Given the description of an element on the screen output the (x, y) to click on. 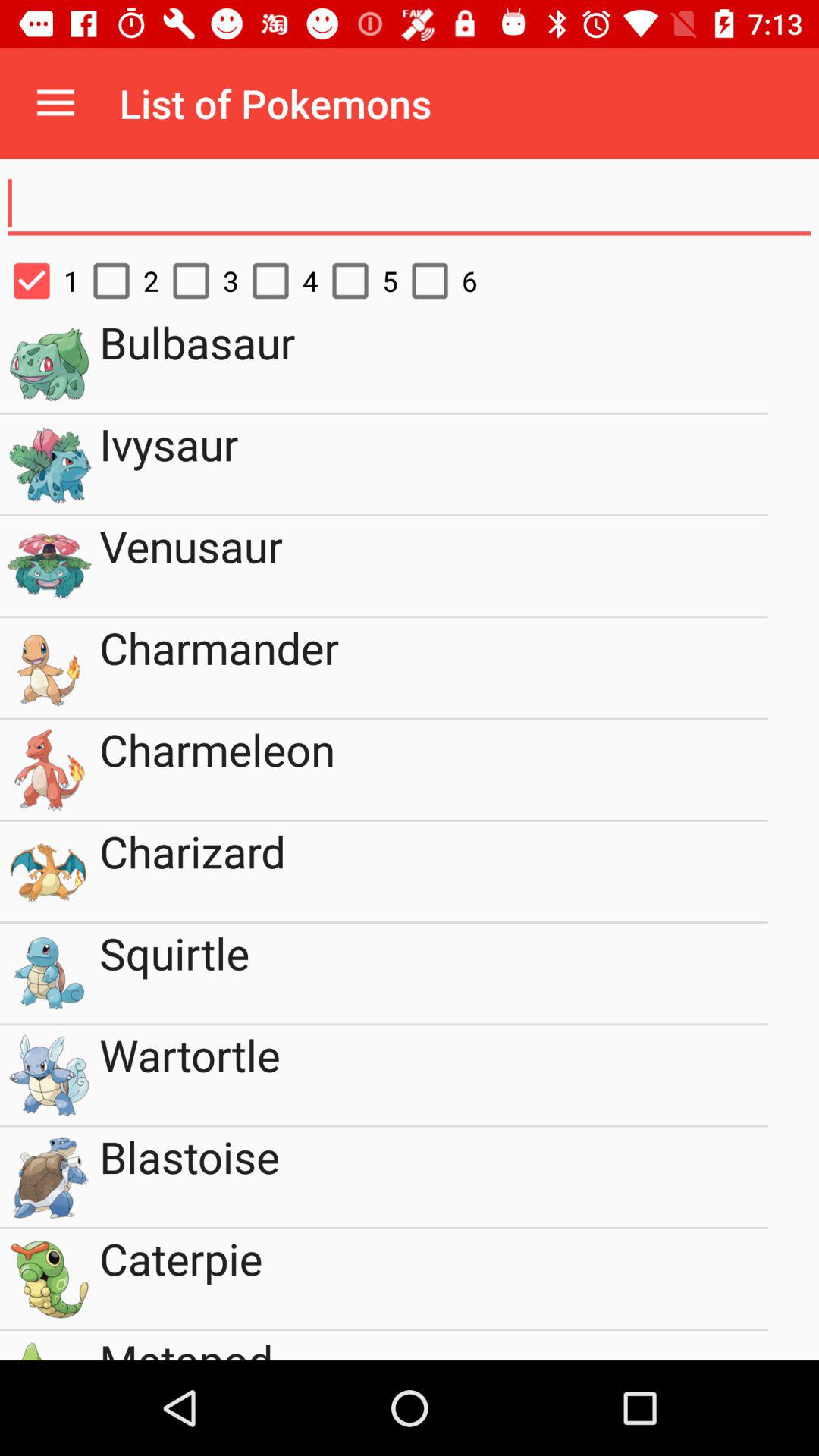
type on top option (409, 204)
